Given the description of an element on the screen output the (x, y) to click on. 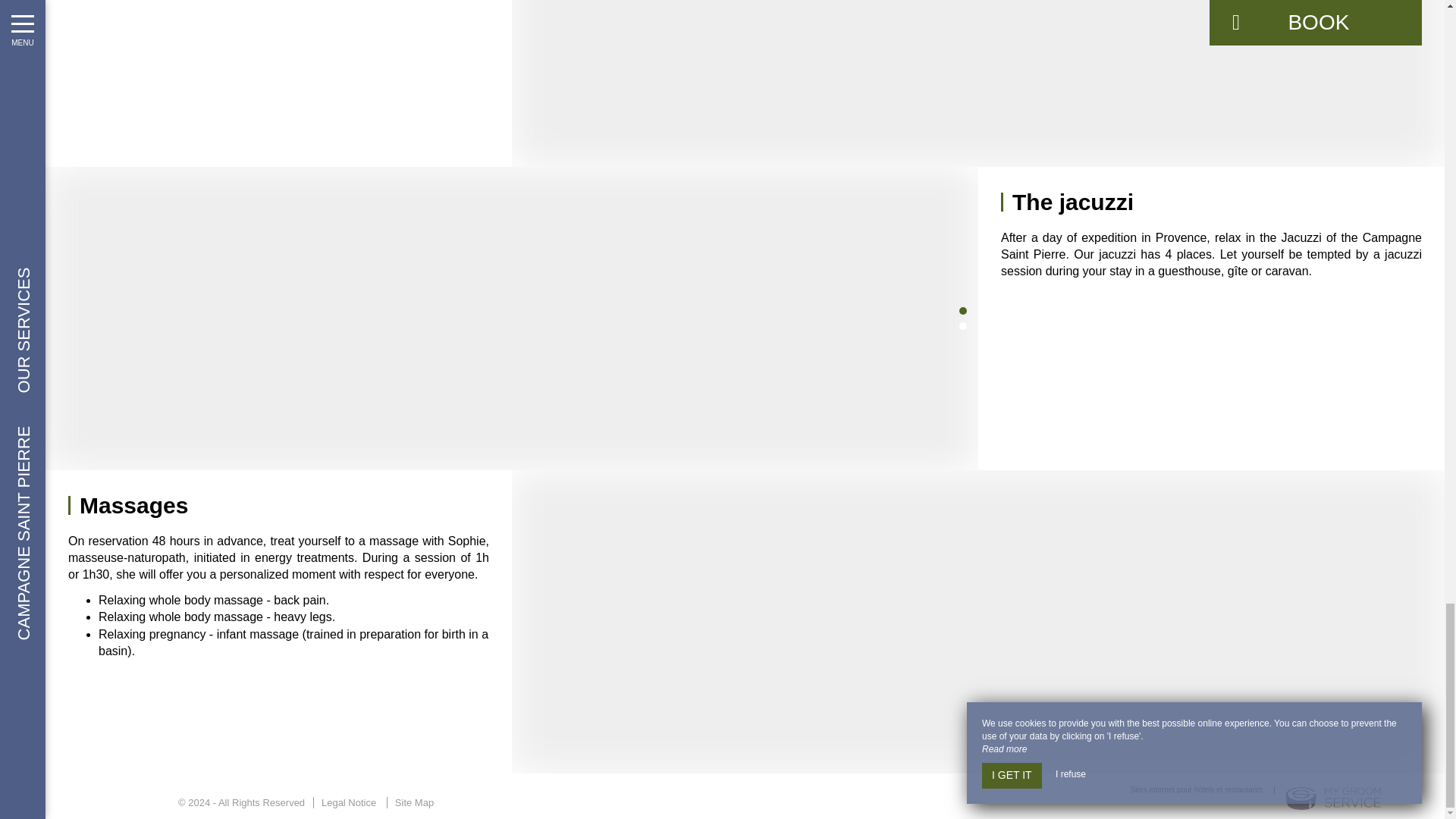
Legal Notice (348, 802)
Site Map (414, 802)
